Given the description of an element on the screen output the (x, y) to click on. 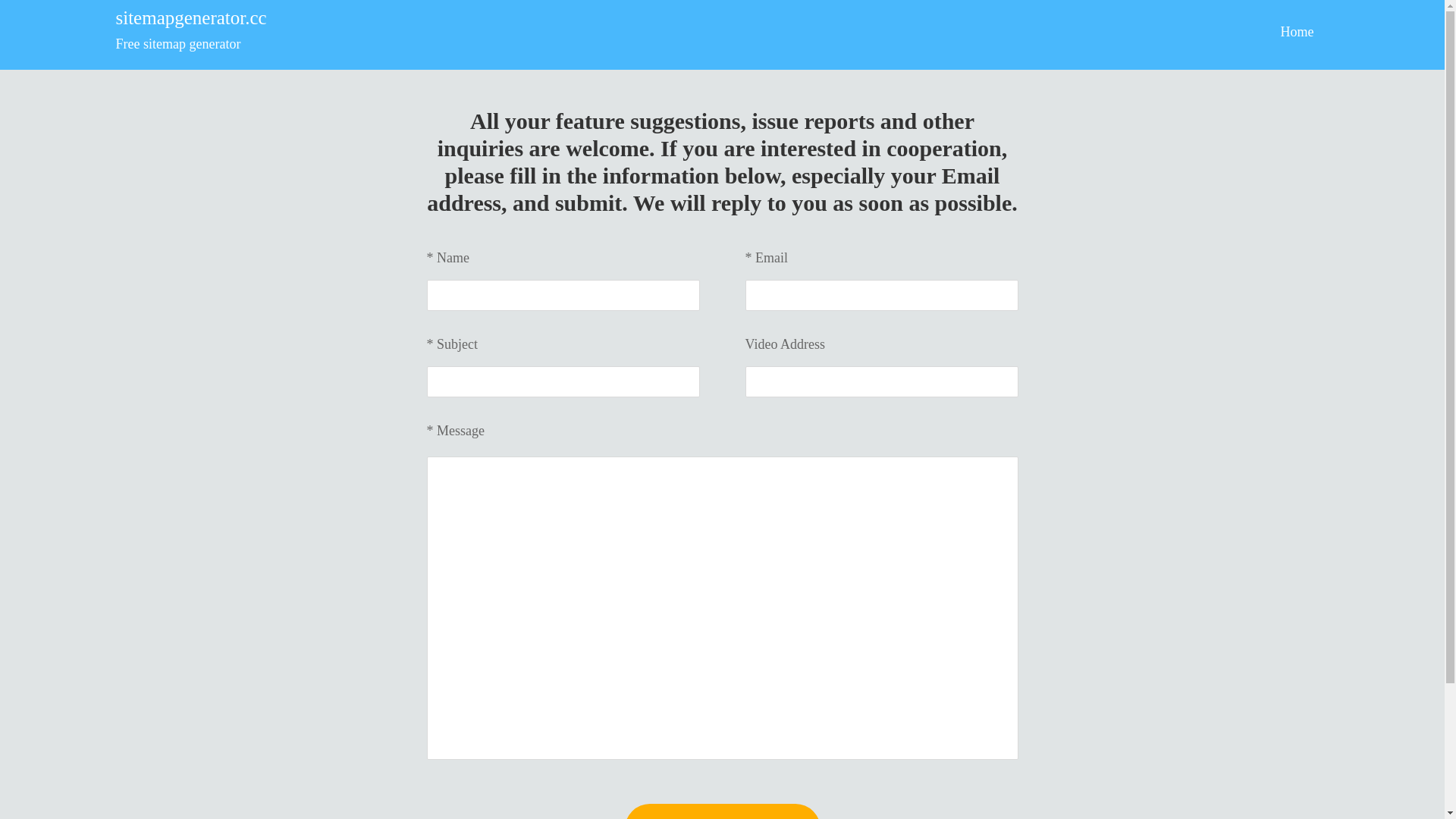
Home Element type: text (1296, 32)
